Given the description of an element on the screen output the (x, y) to click on. 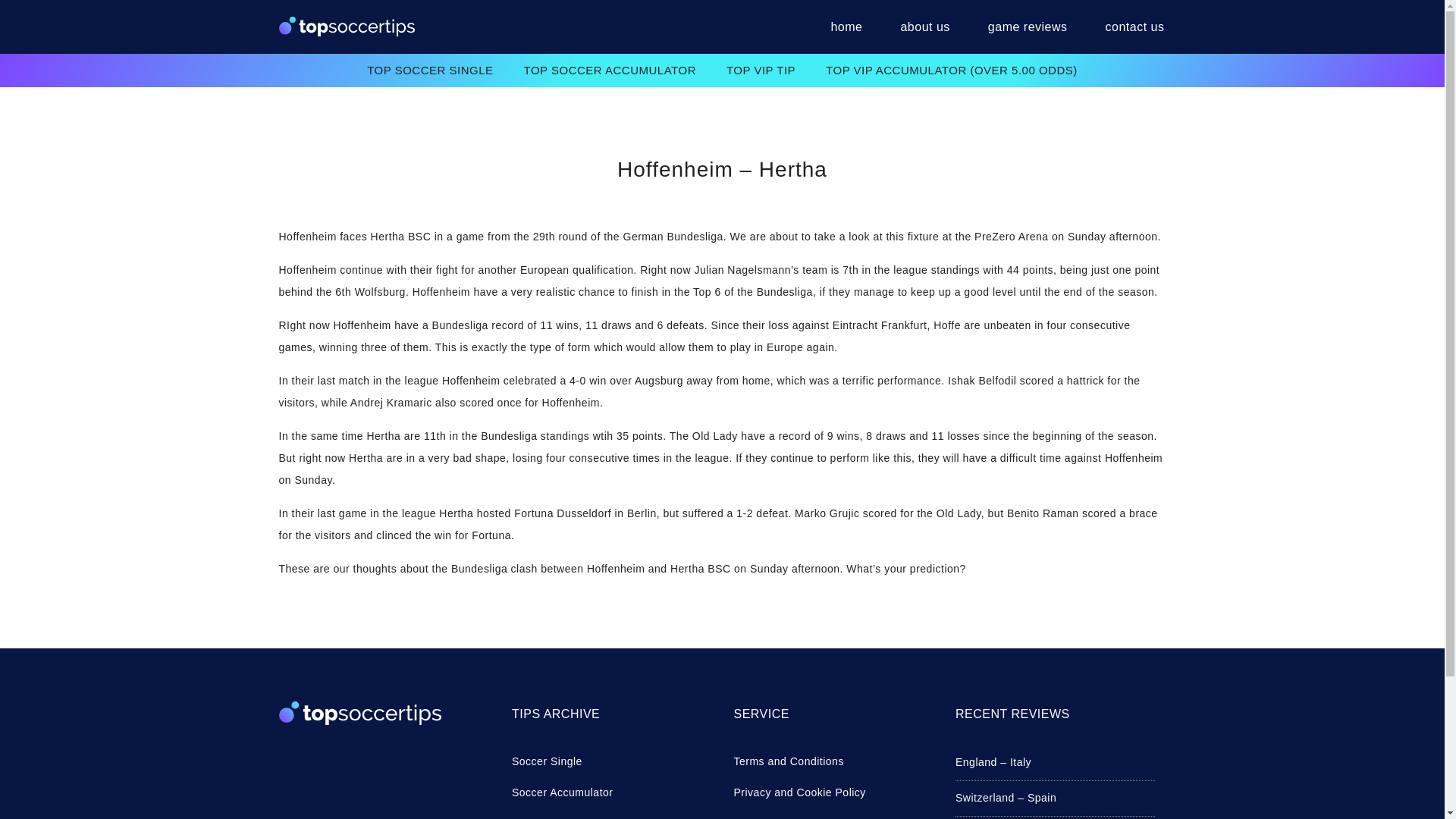
Terms and Conditions (833, 762)
Soccer Single (611, 762)
contact us (1125, 27)
Soccer Accumulator (611, 792)
game reviews (1027, 27)
TOP VIP TIP (761, 70)
home (845, 27)
Privacy and Cookie Policy (833, 792)
TOP SOCCER ACCUMULATOR (609, 70)
TOP SOCCER SINGLE (430, 70)
